Given the description of an element on the screen output the (x, y) to click on. 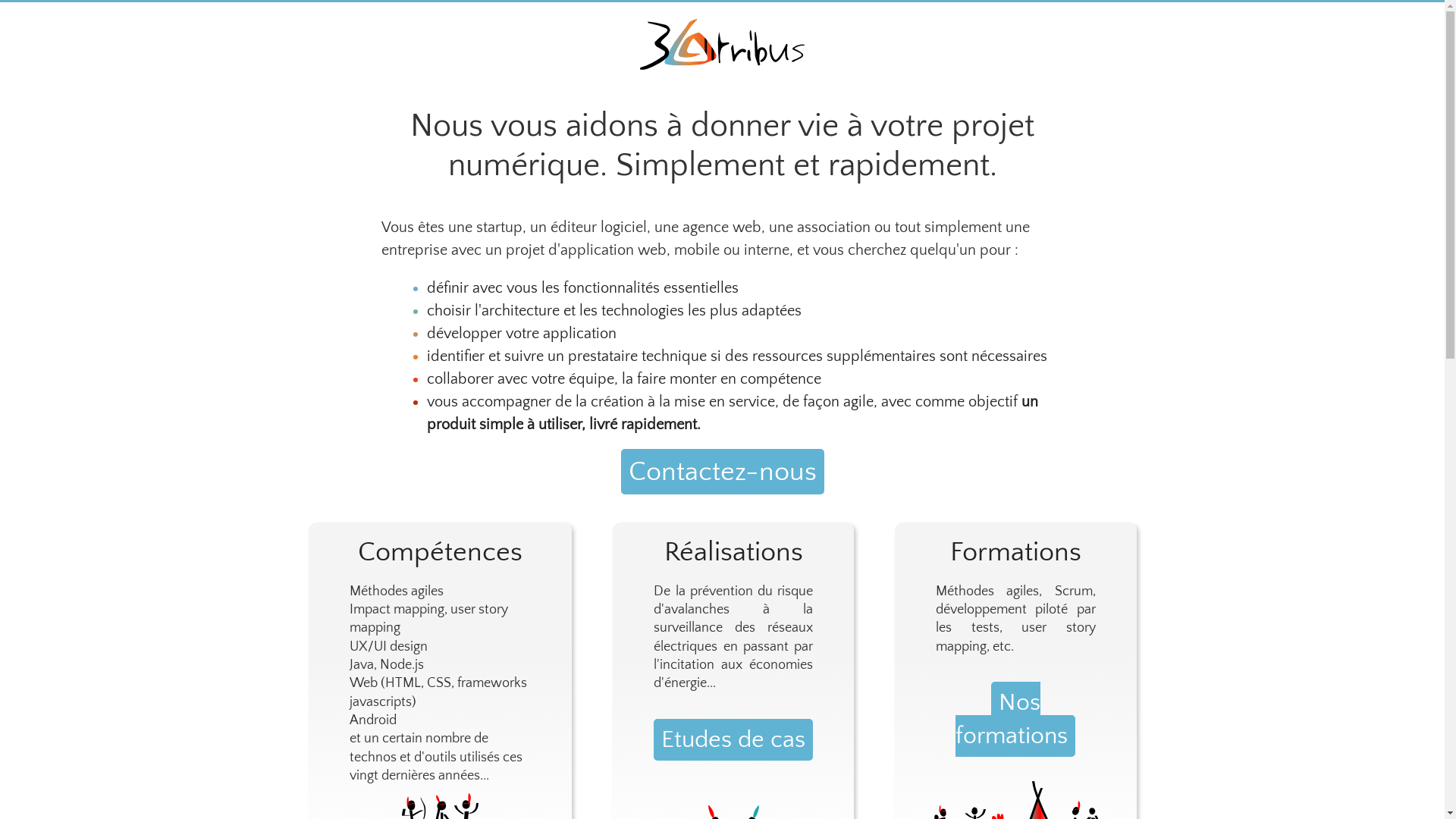
Contactez-nous Element type: text (721, 471)
Nos formations Element type: text (1015, 718)
Etudes de cas Element type: text (732, 739)
